Given the description of an element on the screen output the (x, y) to click on. 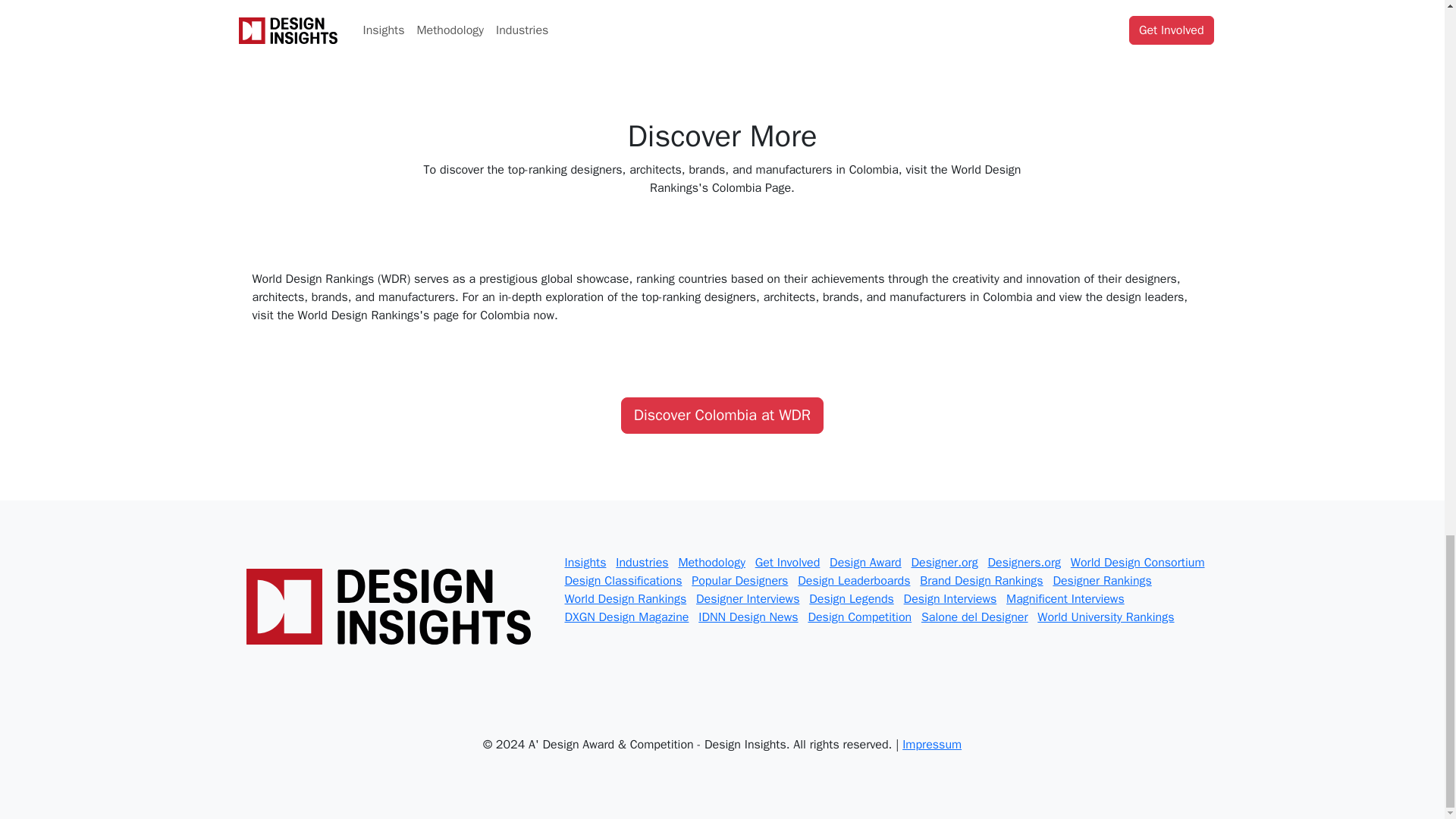
Designer Rankings (1101, 580)
World University Rankings (1104, 616)
Popular Designers (739, 580)
Methodology (711, 562)
Design Interviews (950, 598)
IDNN Design News (747, 616)
Salone del Designer (974, 616)
Design Legends (851, 598)
Designer.org (944, 562)
World Design Consortium (1137, 562)
Get Involved (788, 562)
Brand Design Rankings (981, 580)
Design Competition (859, 616)
Design Classifications (622, 580)
Design Leaderboards (853, 580)
